Given the description of an element on the screen output the (x, y) to click on. 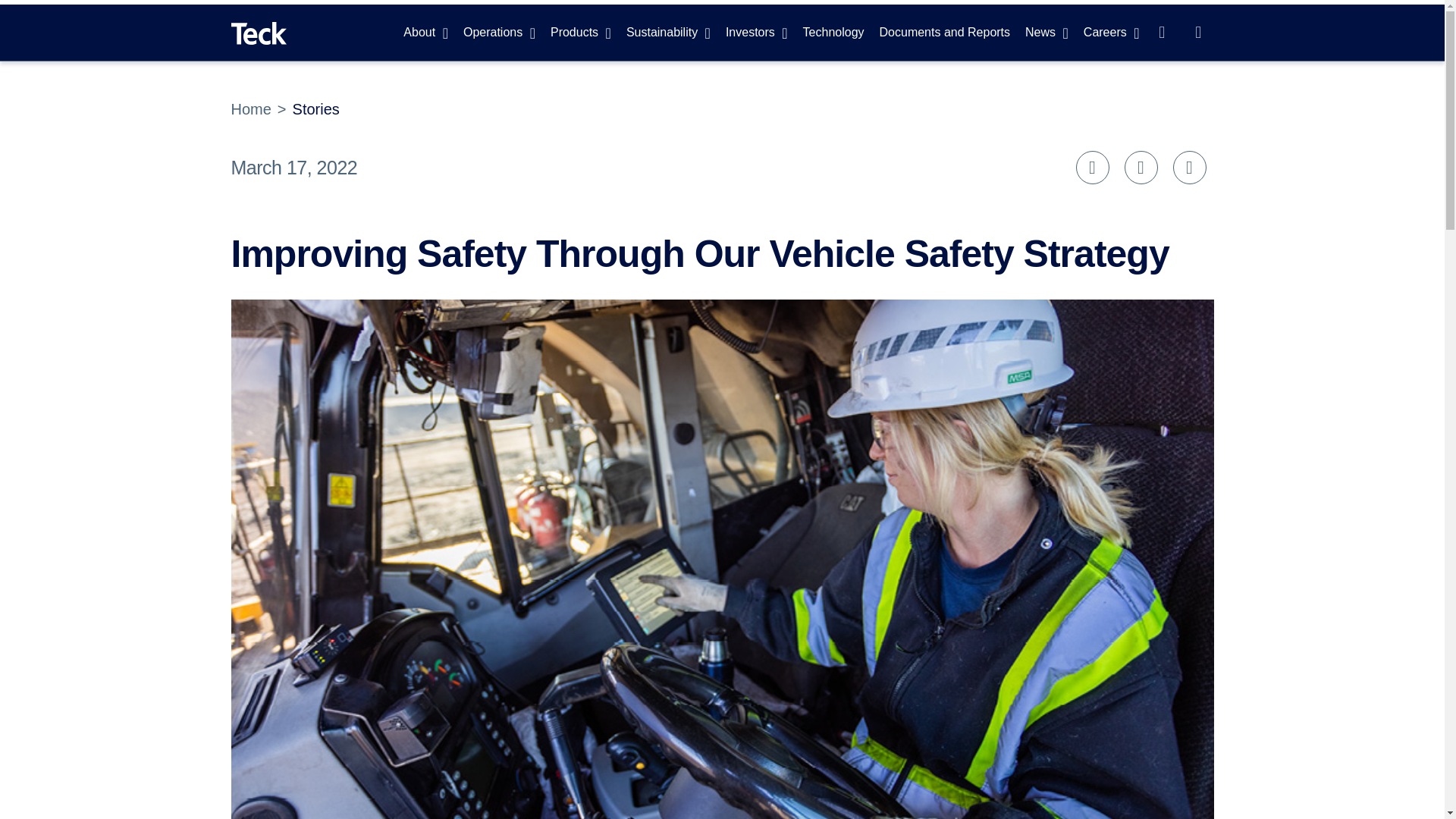
Operations (499, 32)
Products (580, 32)
About (425, 32)
